Given the description of an element on the screen output the (x, y) to click on. 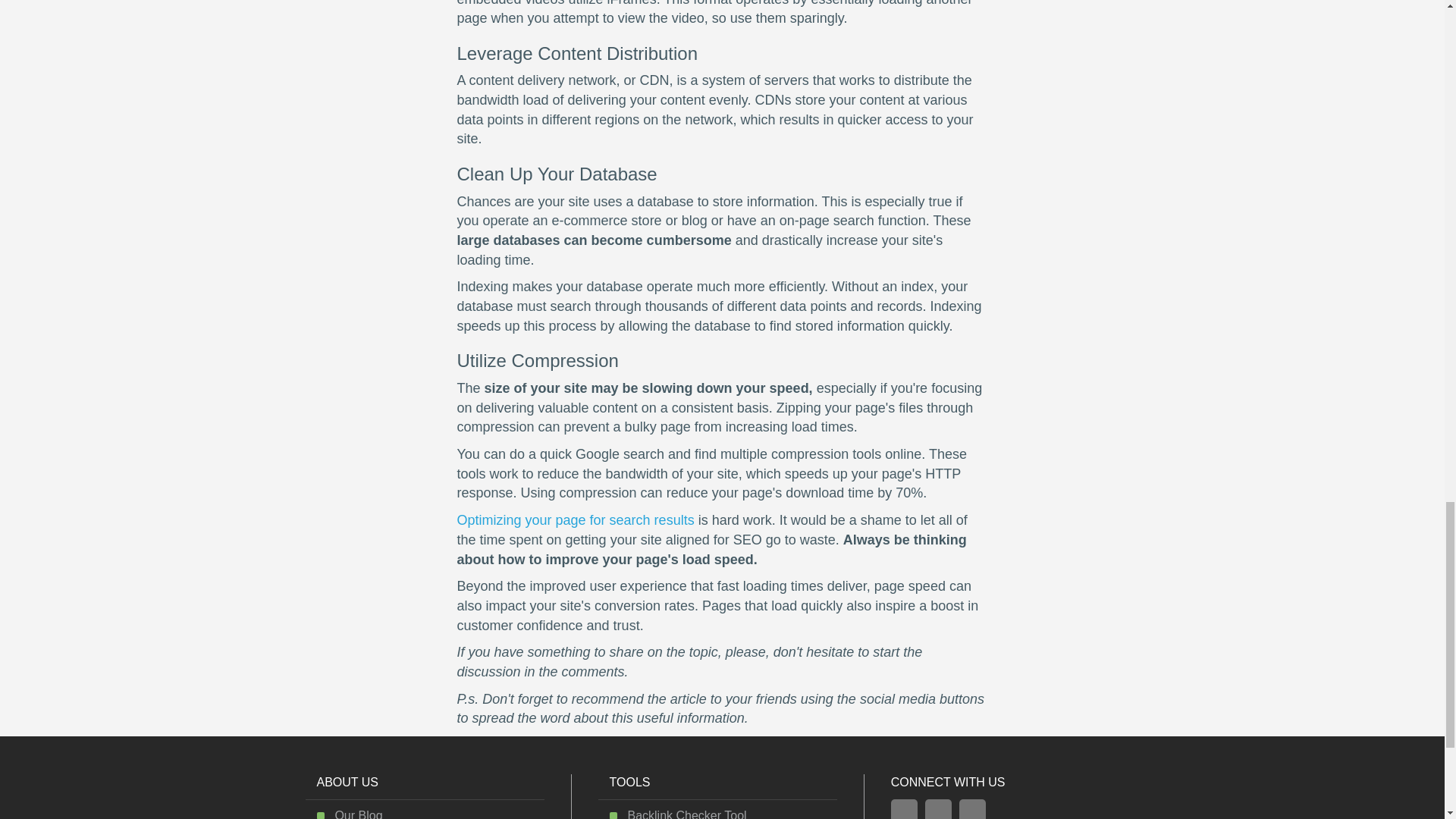
Optimizing your page for search results (575, 519)
Backlink Checker Tool (686, 814)
Our Blog (357, 814)
